Given the description of an element on the screen output the (x, y) to click on. 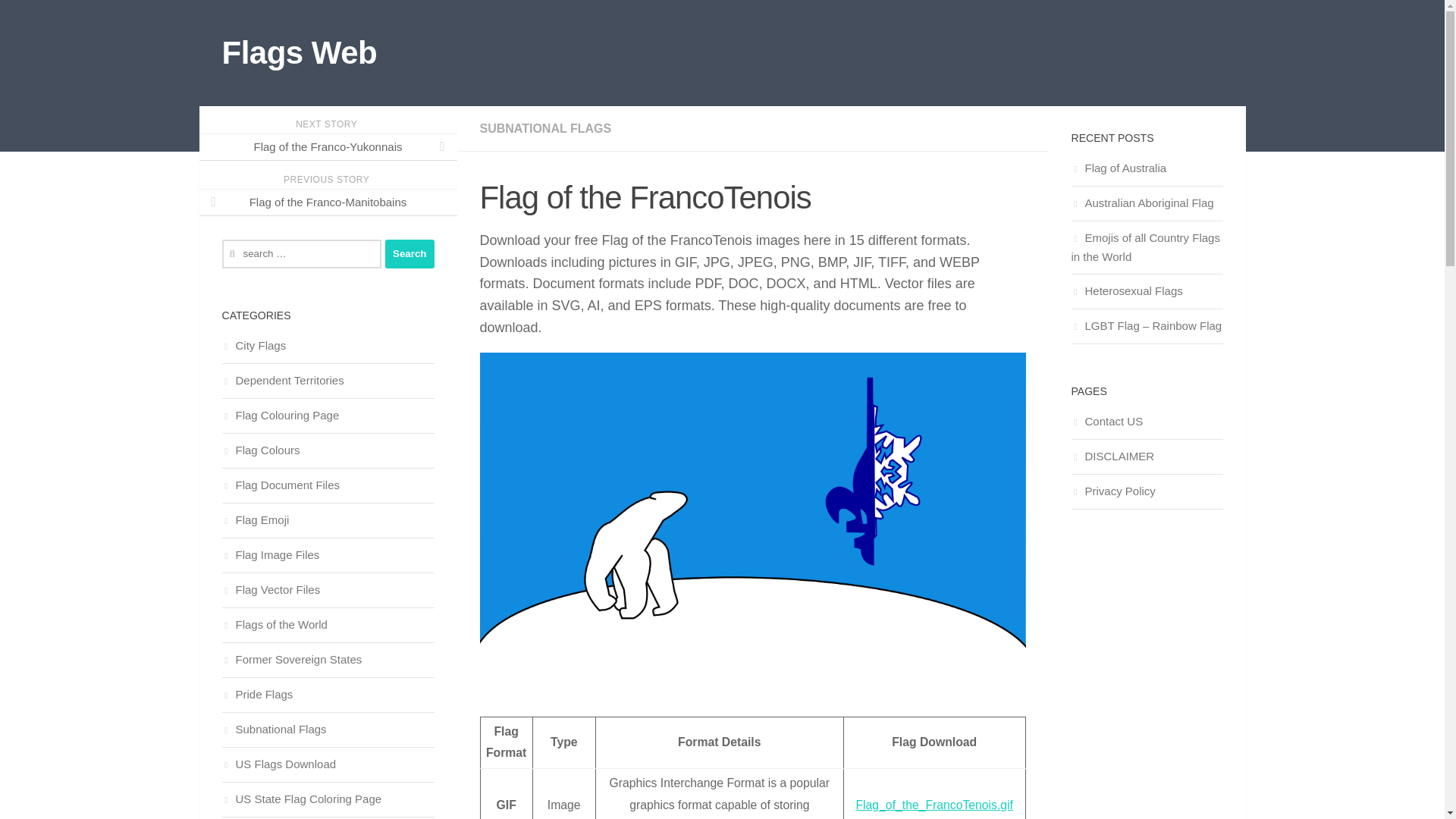
Search (409, 253)
Flag of the Franco-Yukonnais (327, 146)
Skip to content (63, 20)
Search (409, 253)
Flag Emoji (254, 519)
US Flags Download (278, 763)
Flag Image Files (269, 554)
Flags of the World (273, 624)
Dependent Territories (282, 379)
Flags Web (299, 53)
Flag Colouring Page (280, 414)
Search (409, 253)
Former Sovereign States (291, 658)
Flag Colours (260, 449)
Flag of the Franco-Manitobains (327, 202)
